Given the description of an element on the screen output the (x, y) to click on. 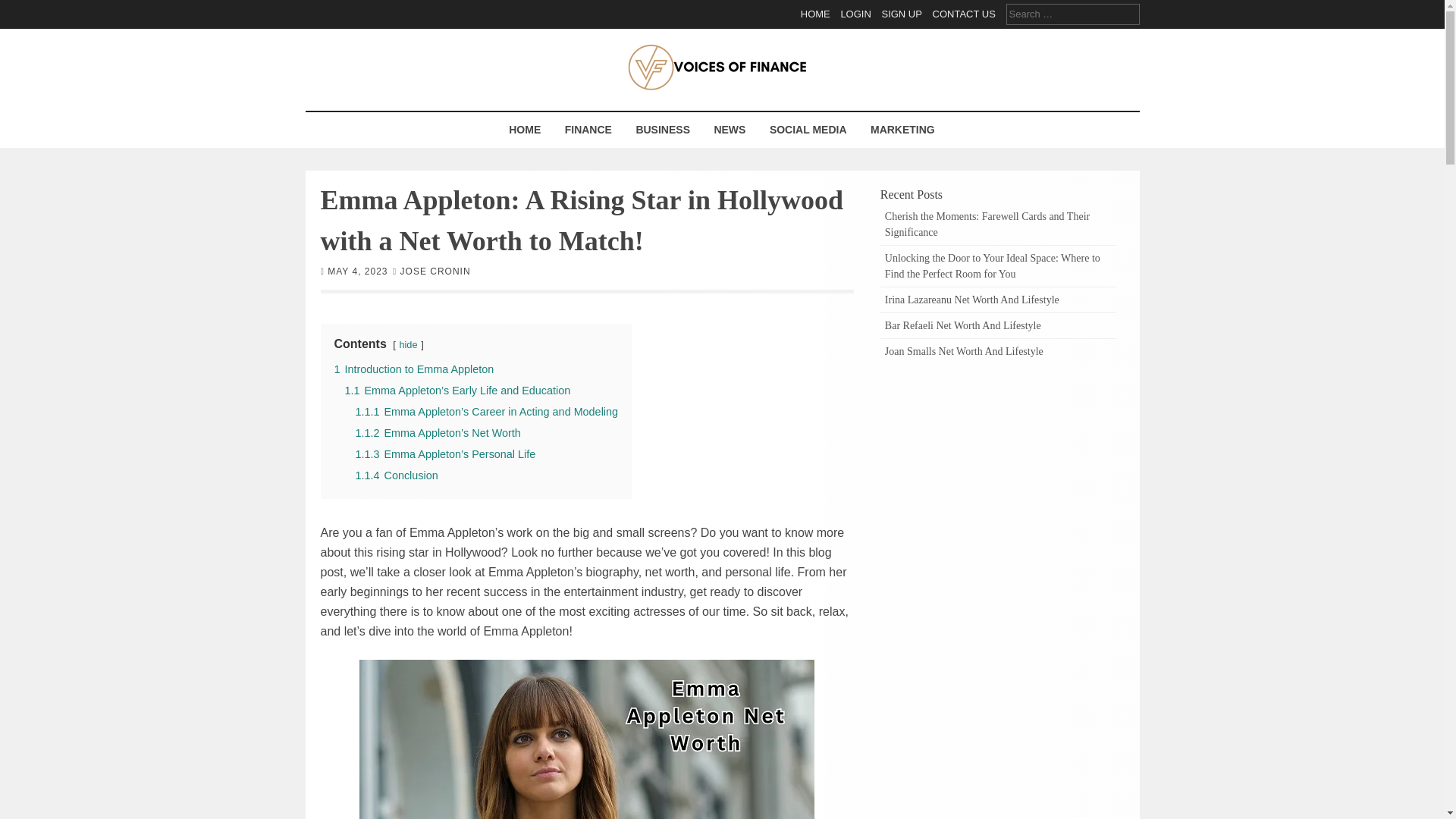
MARKETING (902, 130)
CONTACT US (964, 13)
FINANCE (587, 130)
Search (23, 9)
HOME (814, 13)
MAY 4, 2023 (357, 270)
Joan Smalls Net Worth And Lifestyle (964, 351)
Bar Refaeli Net Worth And Lifestyle (963, 325)
Irina Lazareanu Net Worth And Lifestyle (972, 299)
JOSE CRONIN (435, 270)
LOGIN (855, 13)
BUSINESS (663, 130)
SIGN UP (900, 13)
1 Introduction to Emma Appleton (413, 368)
1.1.4 Conclusion (396, 474)
